Given the description of an element on the screen output the (x, y) to click on. 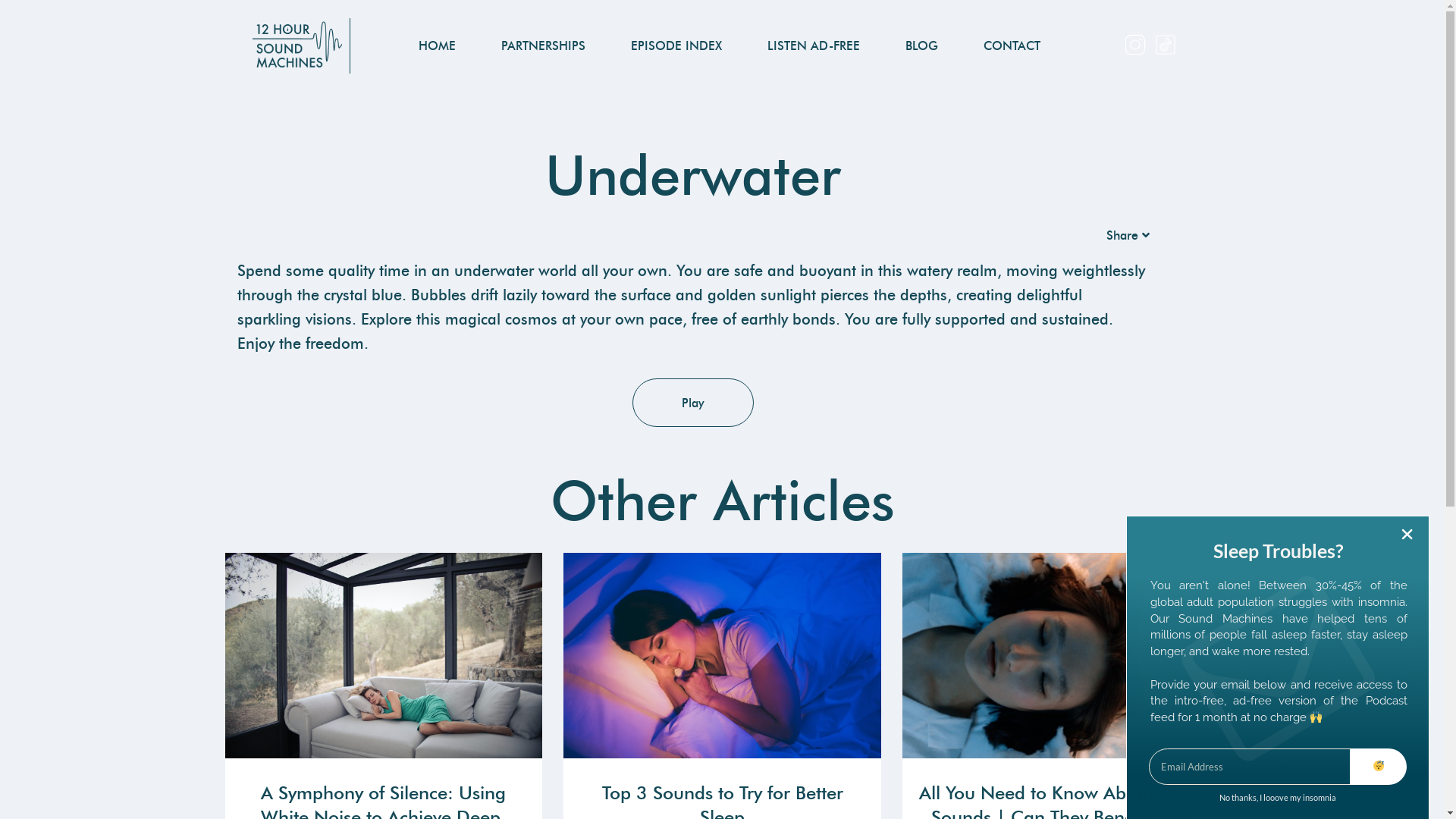
HOME Element type: text (437, 45)
Stop Element type: text (60, 24)
EPISODE INDEX Element type: text (676, 45)
PARTNERSHIPS Element type: text (543, 45)
CONTACT Element type: text (1011, 45)
BLOG Element type: text (921, 45)
Play Element type: text (692, 402)
LISTEN AD-FREE Element type: text (813, 45)
